Given the description of an element on the screen output the (x, y) to click on. 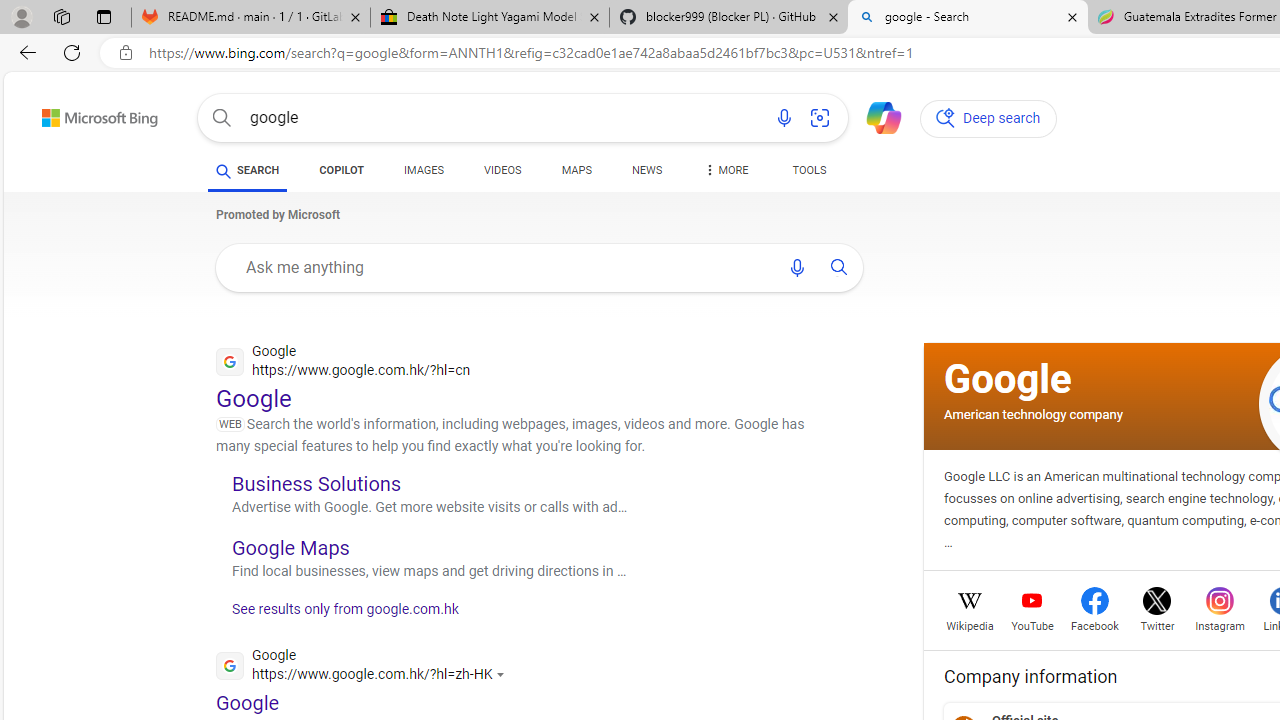
Instagram (1219, 624)
Close tab (1072, 16)
TOOLS (808, 173)
NEWS (646, 173)
IMAGES (424, 170)
See results only from google.com.hk (337, 614)
Tab actions menu (104, 16)
MAPS (576, 170)
MORE (724, 173)
Facebook (1094, 624)
VIDEOS (502, 173)
